Given the description of an element on the screen output the (x, y) to click on. 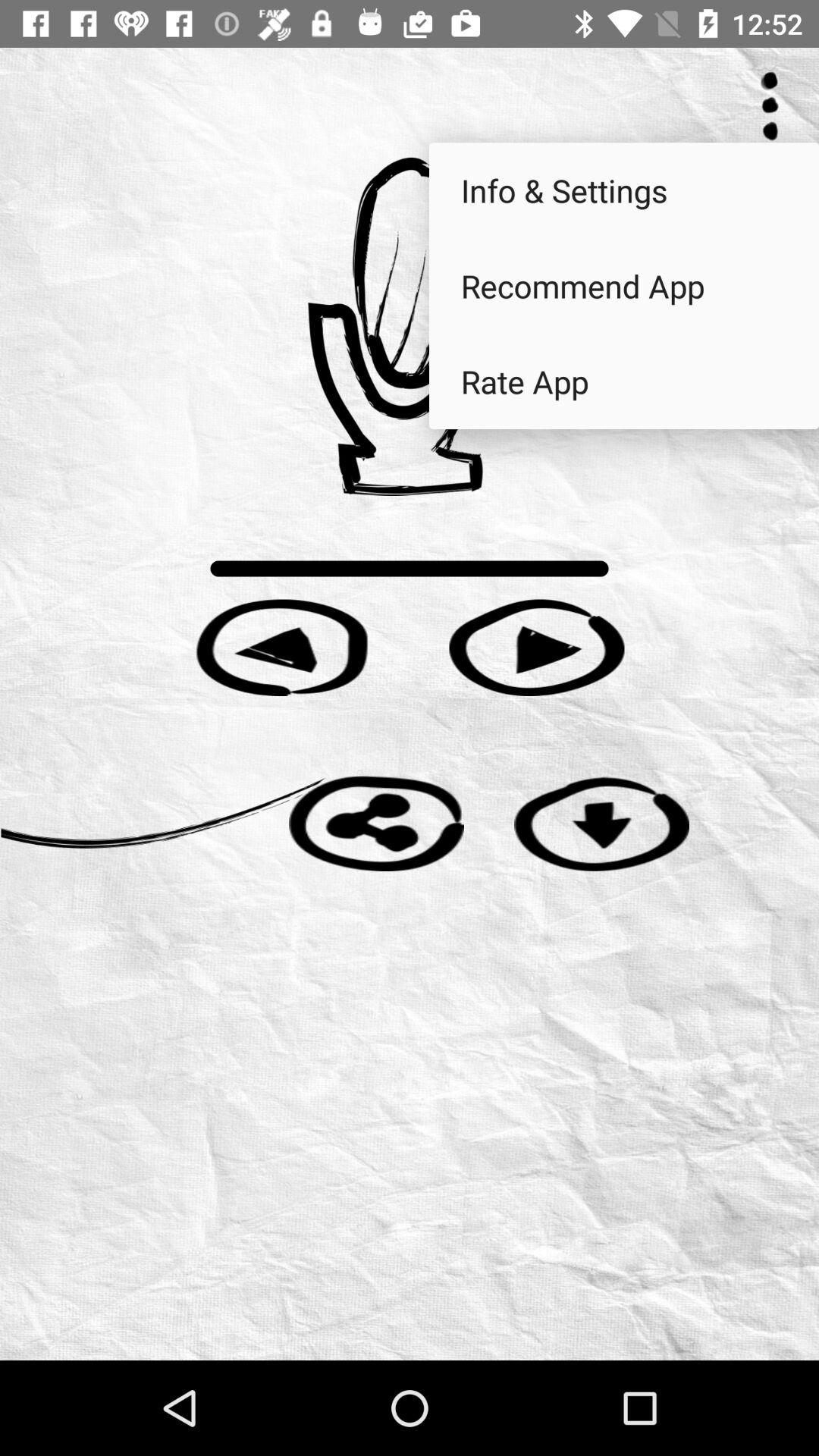
rewind the audio (281, 647)
